Given the description of an element on the screen output the (x, y) to click on. 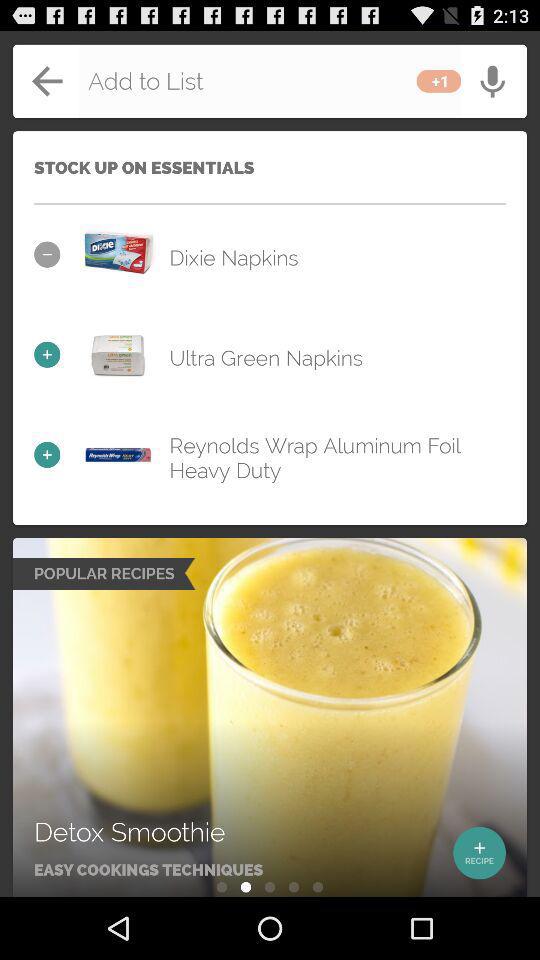
go to dixie napkins (118, 254)
